Given the description of an element on the screen output the (x, y) to click on. 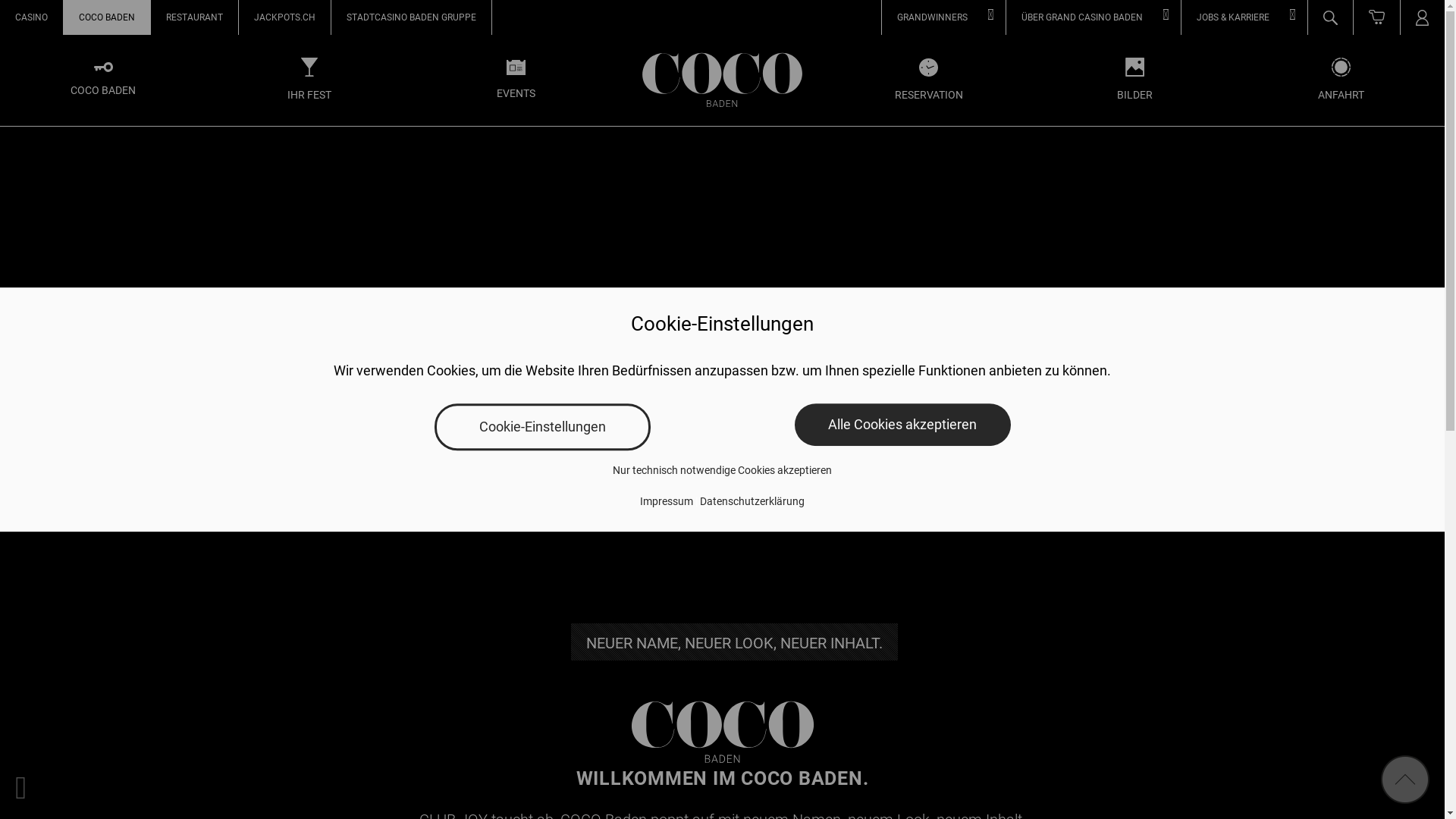
BILDER Element type: text (1135, 79)
Cookie-Einstellungen bearbeiten Element type: hover (20, 787)
GRANDWINNERS Element type: text (943, 17)
Suchen Element type: text (1398, 58)
COCO BADEN Element type: text (106, 17)
CASINO Element type: text (31, 17)
EVENTS Element type: text (515, 79)
COCO BADEN Element type: text (103, 79)
Nur technisch notwendige Cookies akzeptieren Element type: text (722, 469)
NEUER NAME, NEUER LOOK, NEUER INHALT. Element type: text (733, 641)
JACKPOTS.CH Element type: text (284, 17)
Impressum Element type: text (667, 501)
IHR FEST Element type: text (309, 79)
RESERVATION Element type: text (928, 79)
RESTAURANT Element type: text (194, 17)
JOBS & KARRIERE Element type: text (1244, 17)
ANFAHRT Element type: text (1341, 79)
STADTCASINO BADEN GRUPPE Element type: text (411, 17)
